Given the description of an element on the screen output the (x, y) to click on. 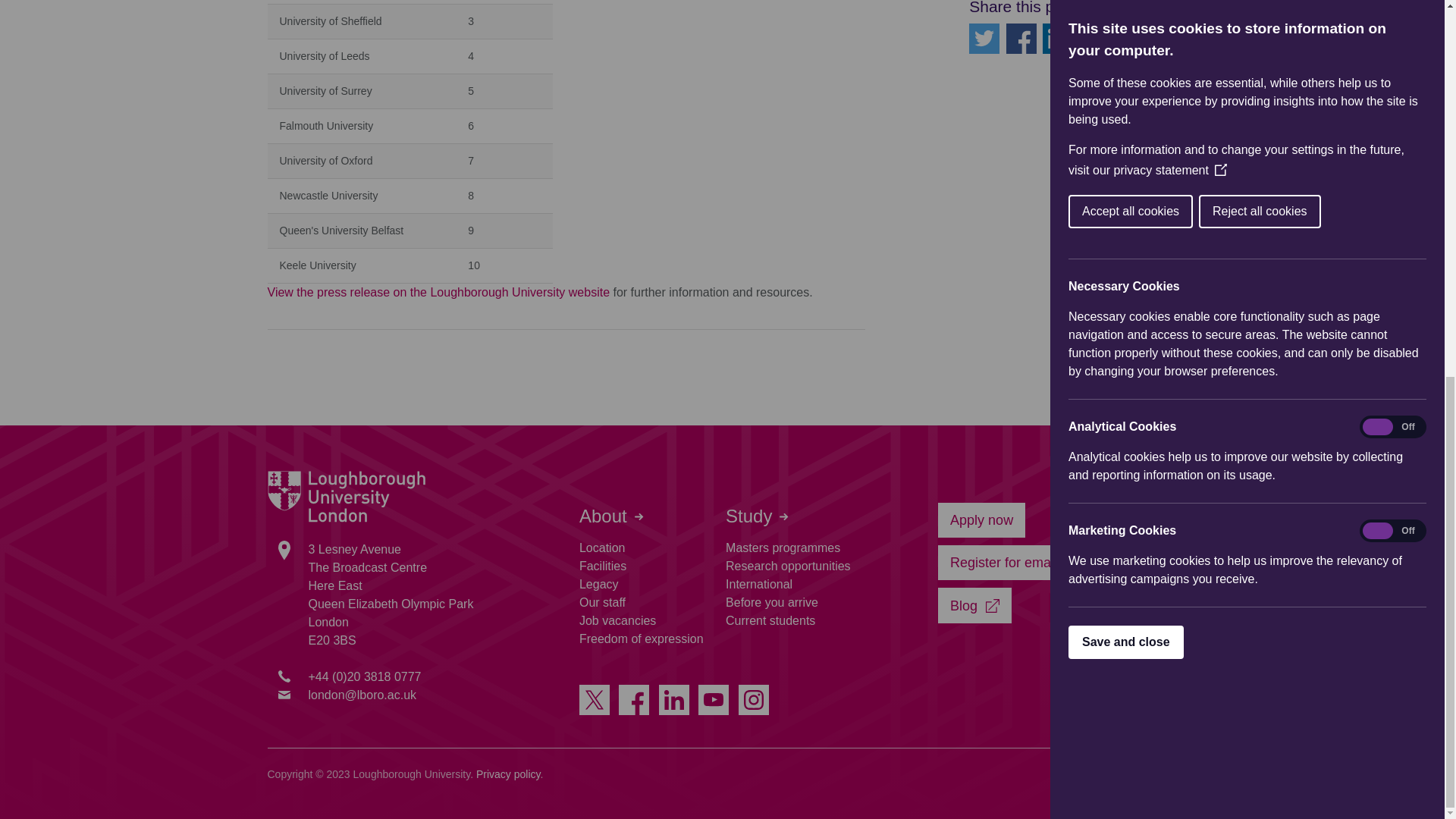
Twitter (983, 38)
About (611, 515)
LinkedIn (1057, 38)
Facilities (602, 566)
Facebook (1021, 38)
Location (602, 547)
Loughborough University London (345, 496)
